Given the description of an element on the screen output the (x, y) to click on. 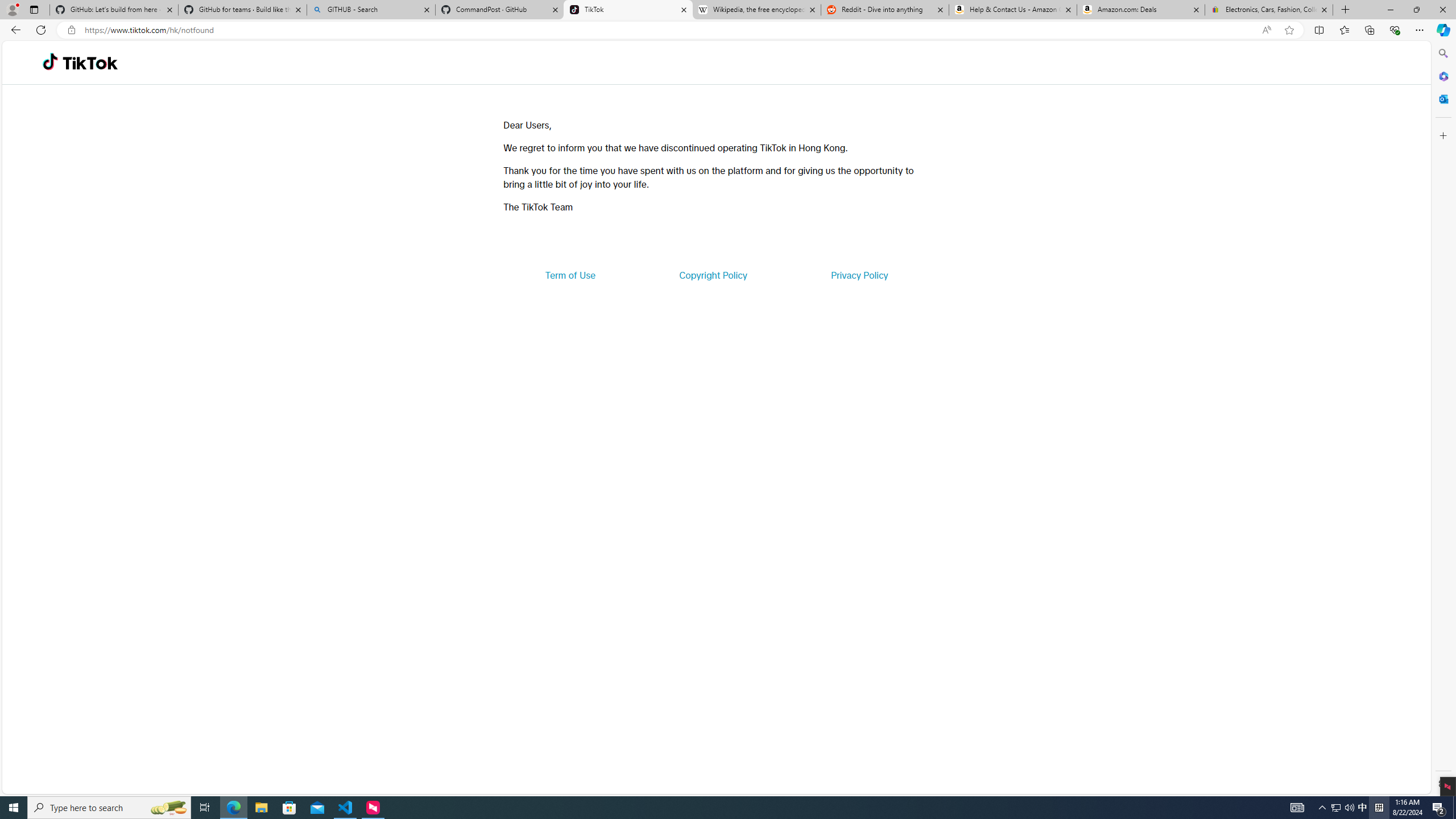
Amazon.com: Deals (1140, 9)
Electronics, Cars, Fashion, Collectibles & More | eBay (1268, 9)
Read aloud this page (Ctrl+Shift+U) (1266, 29)
Copilot (Ctrl+Shift+.) (1442, 29)
Tab actions menu (33, 9)
Restore (1416, 9)
Search (1442, 53)
Help & Contact Us - Amazon Customer Service (1012, 9)
Settings (1442, 783)
Close Outlook pane (1442, 98)
Microsoft 365 (1442, 76)
Close (1442, 9)
New Tab (1346, 9)
